Given the description of an element on the screen output the (x, y) to click on. 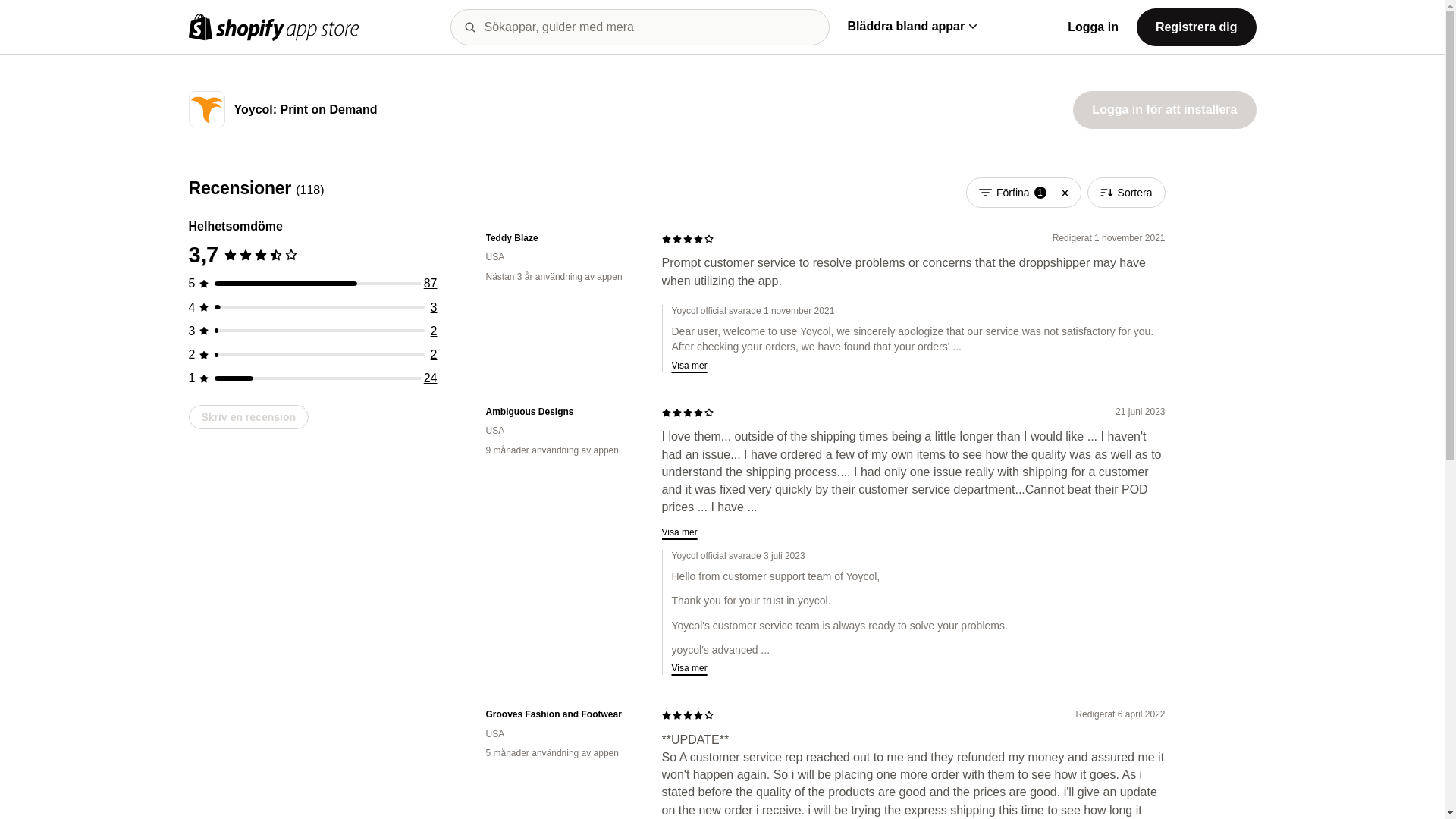
Registrera dig (1196, 26)
24 (430, 377)
Ambiguous Designs (560, 411)
87 (430, 282)
Logga in (1092, 27)
Teddy Blaze (560, 237)
Yoycol: Print on Demand (304, 110)
Grooves Fashion and Footwear (560, 714)
